Given the description of an element on the screen output the (x, y) to click on. 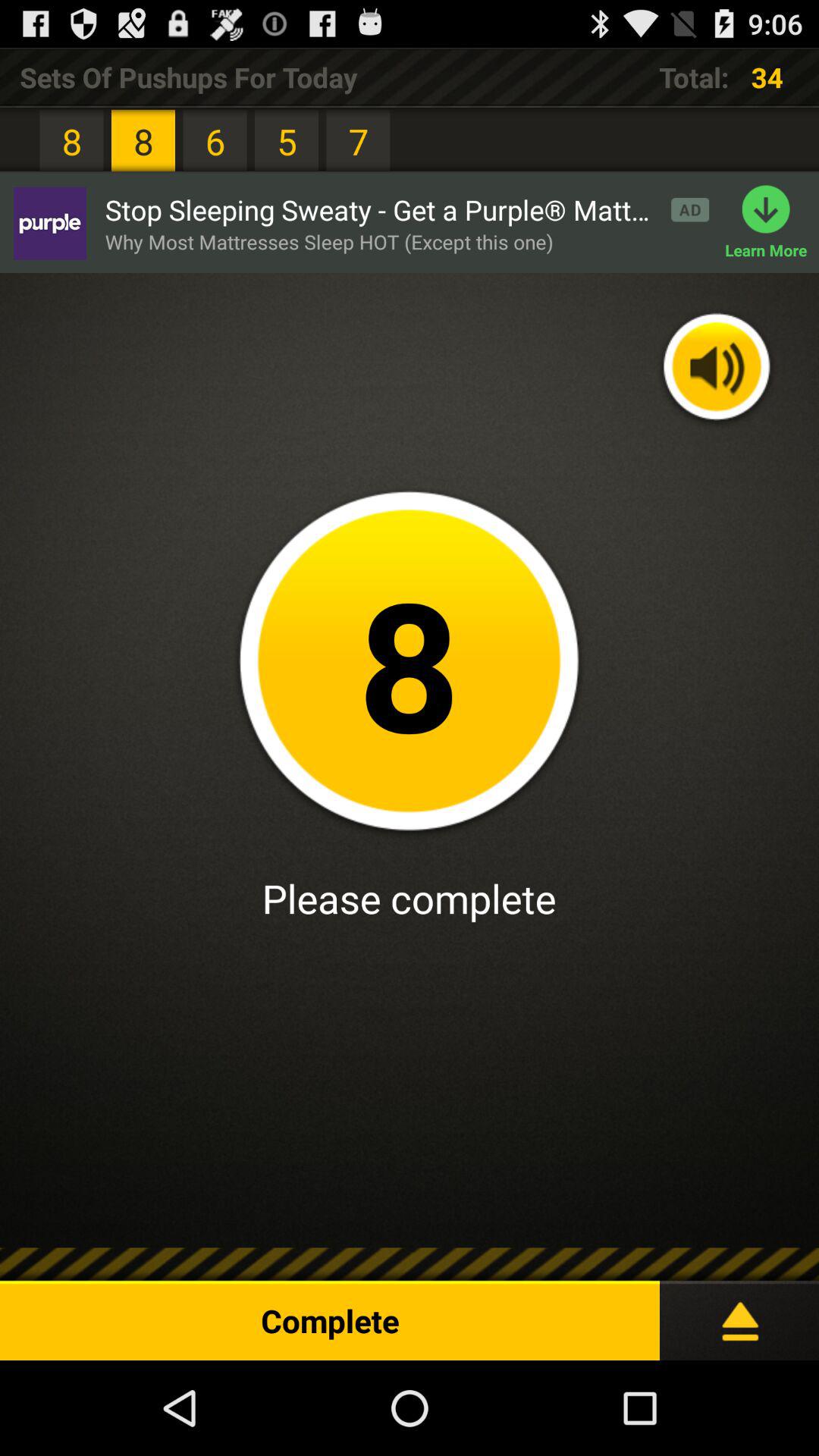
flip until the why most mattresses (329, 241)
